Given the description of an element on the screen output the (x, y) to click on. 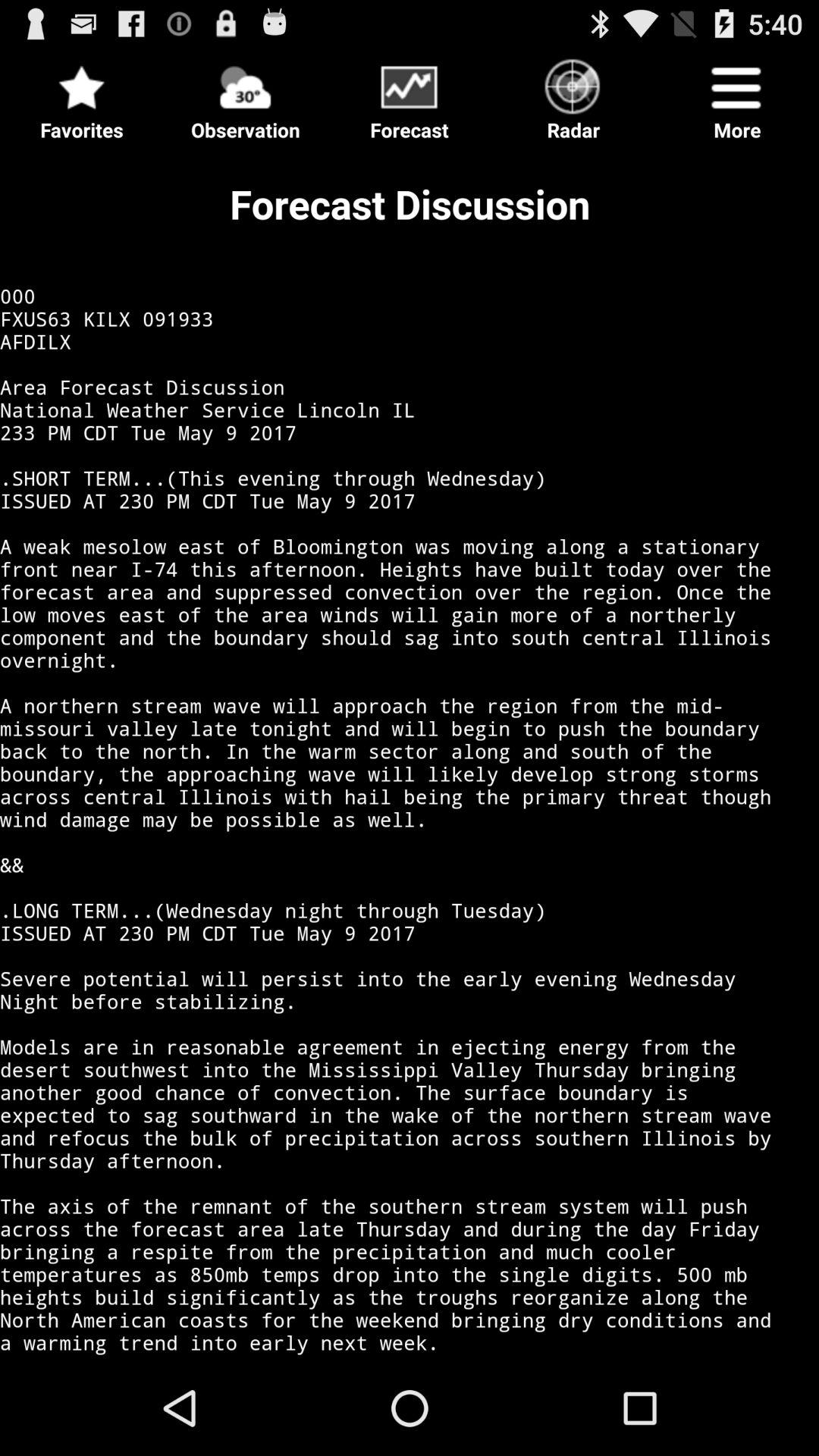
select the forecast item (409, 95)
